Given the description of an element on the screen output the (x, y) to click on. 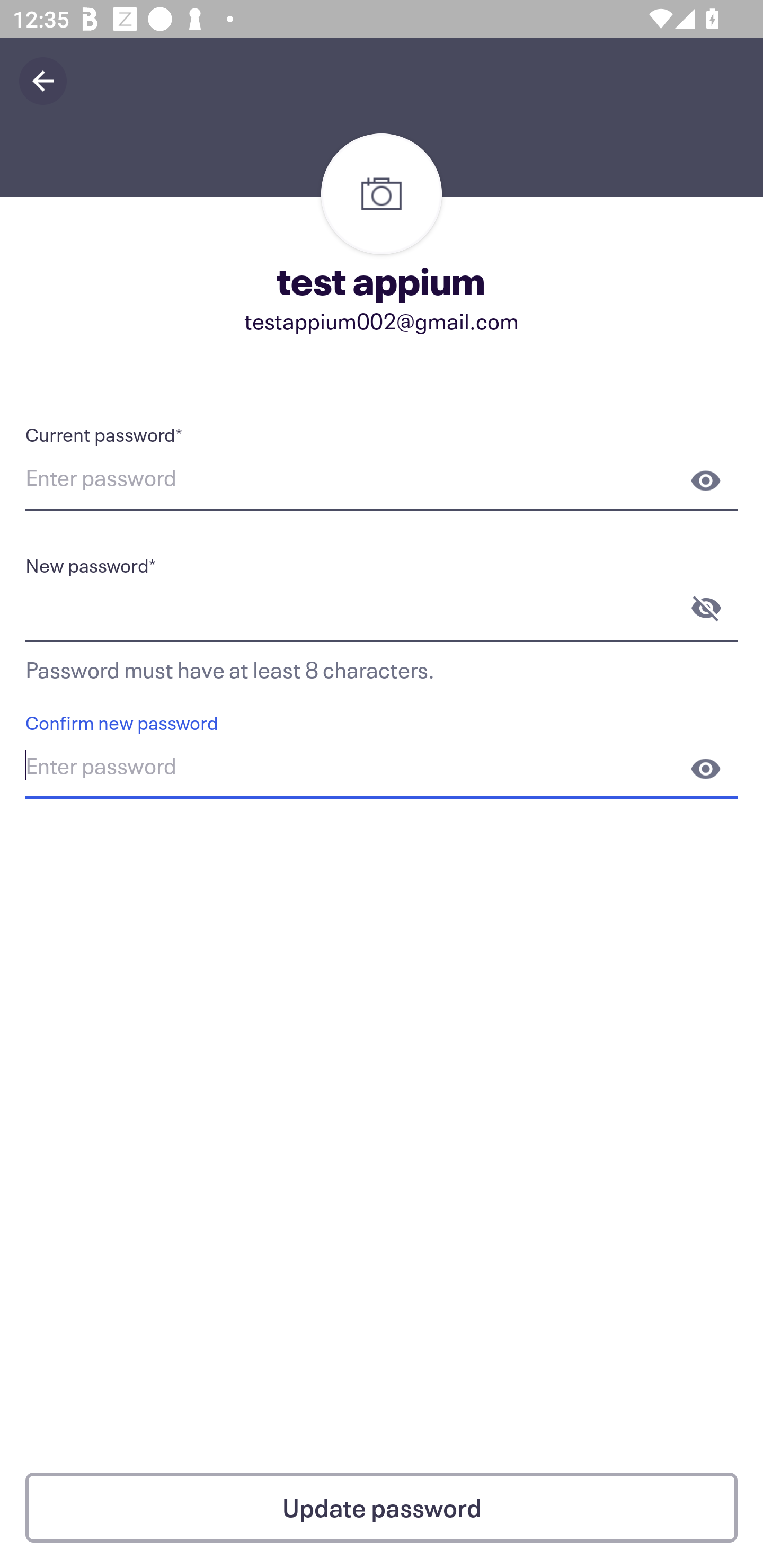
Enter password (381, 480)
Show password (705, 480)
Enter password (381, 768)
Show password (705, 768)
Update password (381, 1507)
